Given the description of an element on the screen output the (x, y) to click on. 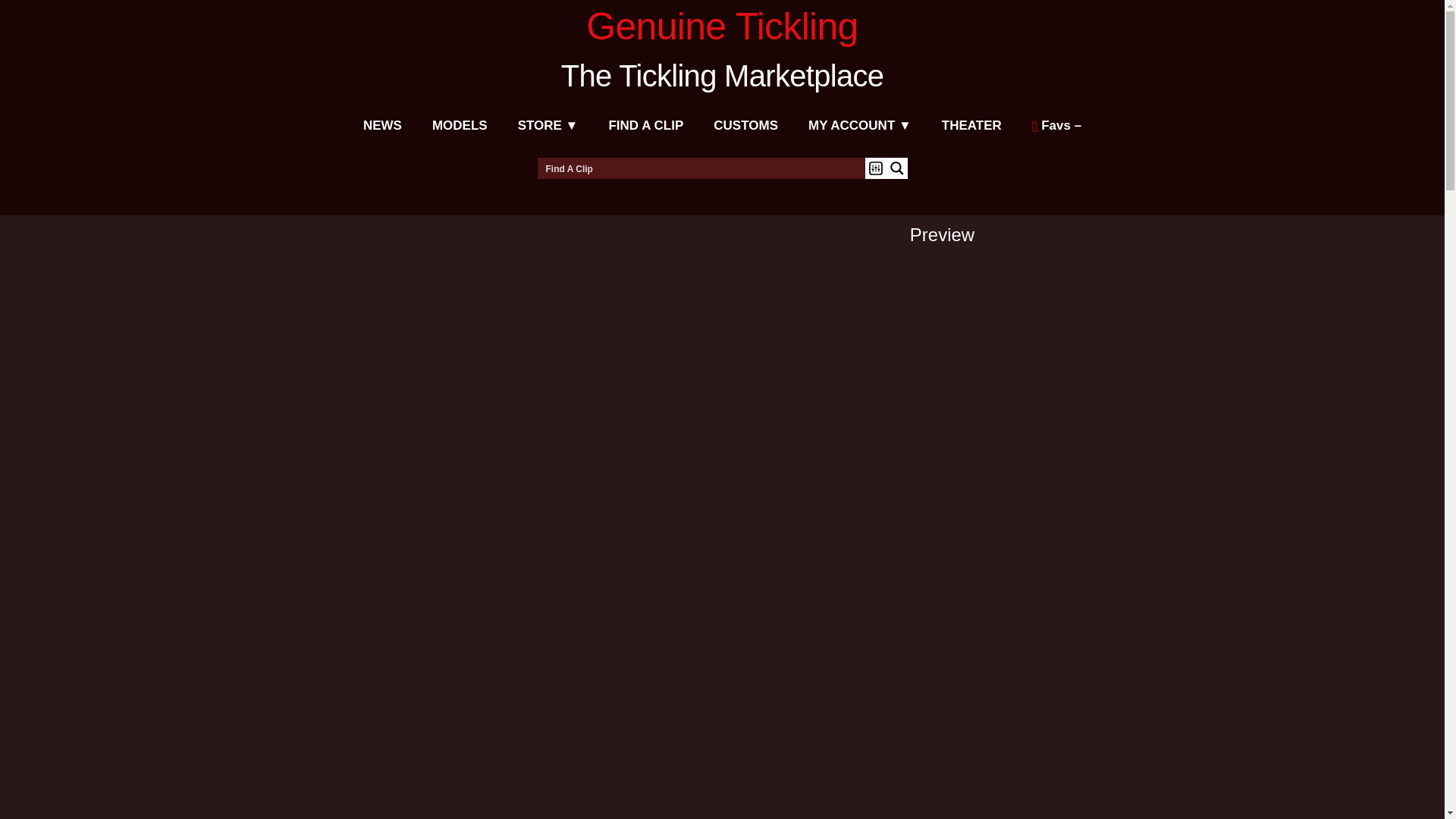
MODELS (459, 125)
FIND A CLIP (645, 125)
The Tickling Marketplace (721, 75)
Genuine Tickling (721, 25)
THEATER (971, 125)
CUSTOMS (745, 125)
NEWS (381, 125)
